Given the description of an element on the screen output the (x, y) to click on. 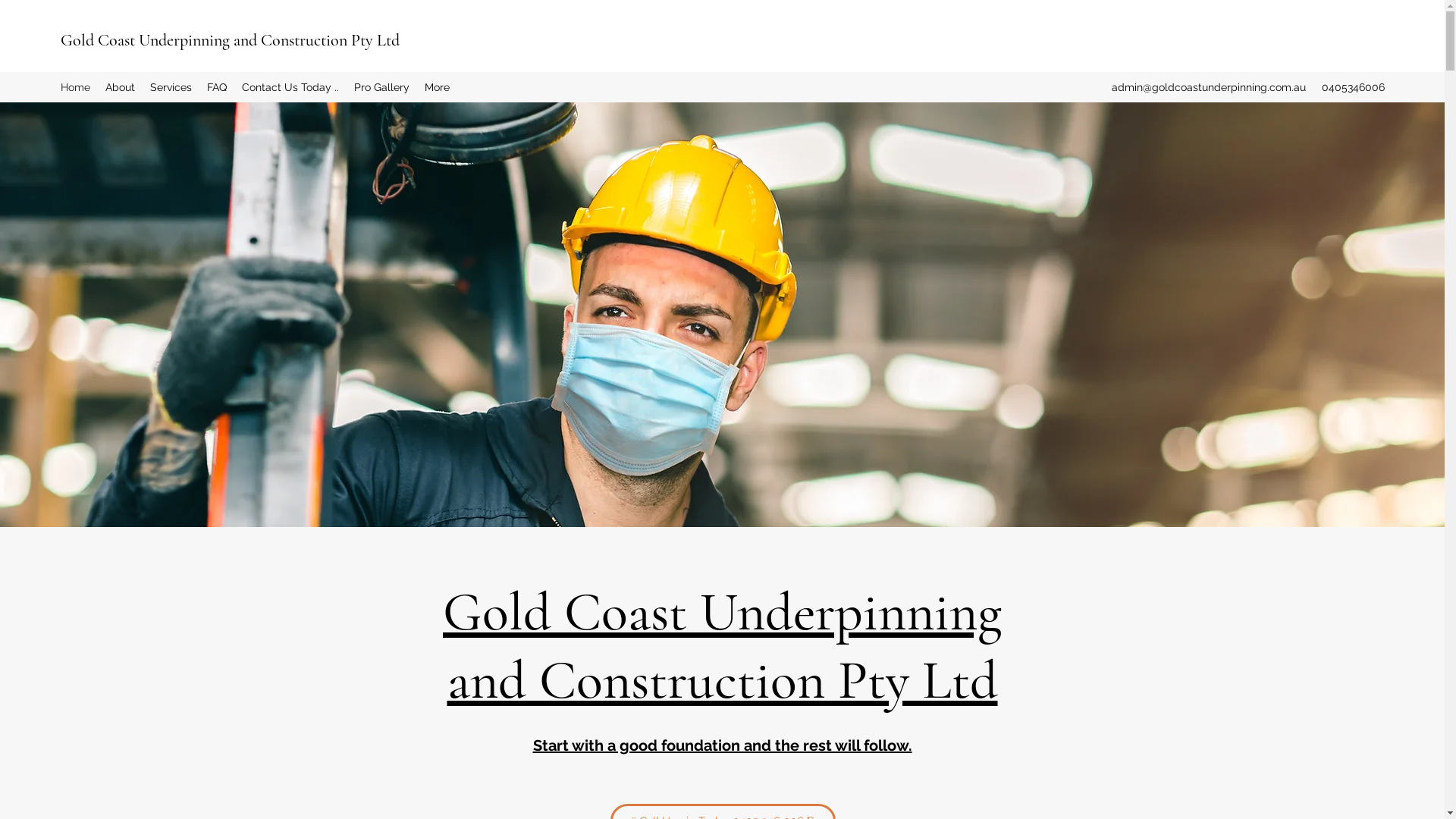
FAQ Element type: text (216, 86)
Pro Gallery Element type: text (381, 86)
Gold Coast Underpinning and Construction Pty Ltd Element type: text (721, 645)
Contact Us Today .. Element type: text (290, 86)
admin@goldcoastunderpinning.com.au Element type: text (1208, 87)
Start with a good foundation and the rest will follow. Element type: text (721, 745)
Home Element type: text (75, 86)
About Element type: text (119, 86)
Services Element type: text (170, 86)
